Given the description of an element on the screen output the (x, y) to click on. 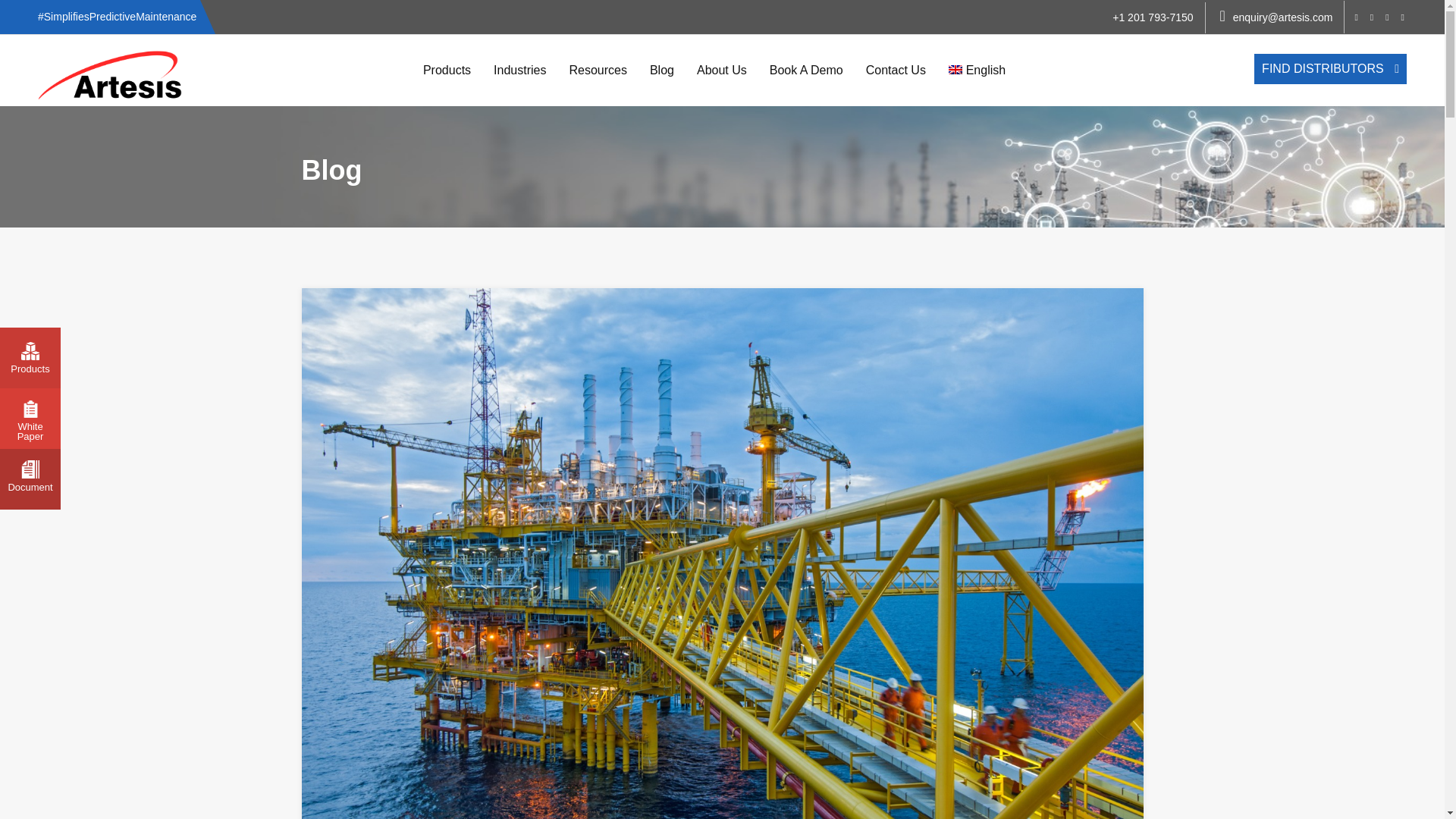
English (976, 70)
Products (446, 70)
Resources (597, 70)
English (976, 70)
Industries (519, 70)
Contact Us (895, 70)
About Us (721, 70)
FIND DISTRIBUTORS (1329, 69)
Book A Demo (806, 70)
